Given the description of an element on the screen output the (x, y) to click on. 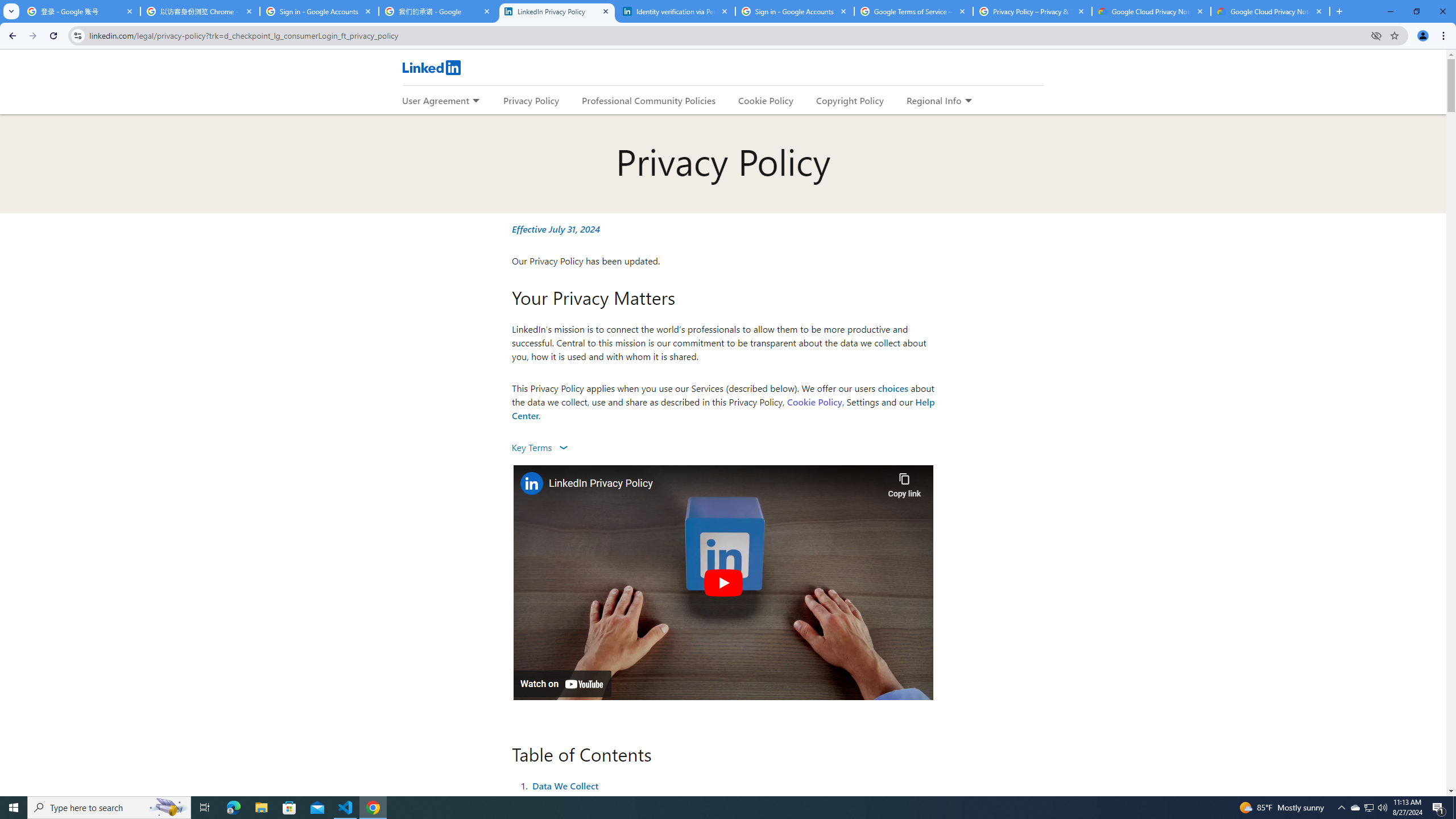
choices (892, 387)
Watch on YouTube (561, 683)
LinkedIn Privacy Policy (715, 483)
